Given the description of an element on the screen output the (x, y) to click on. 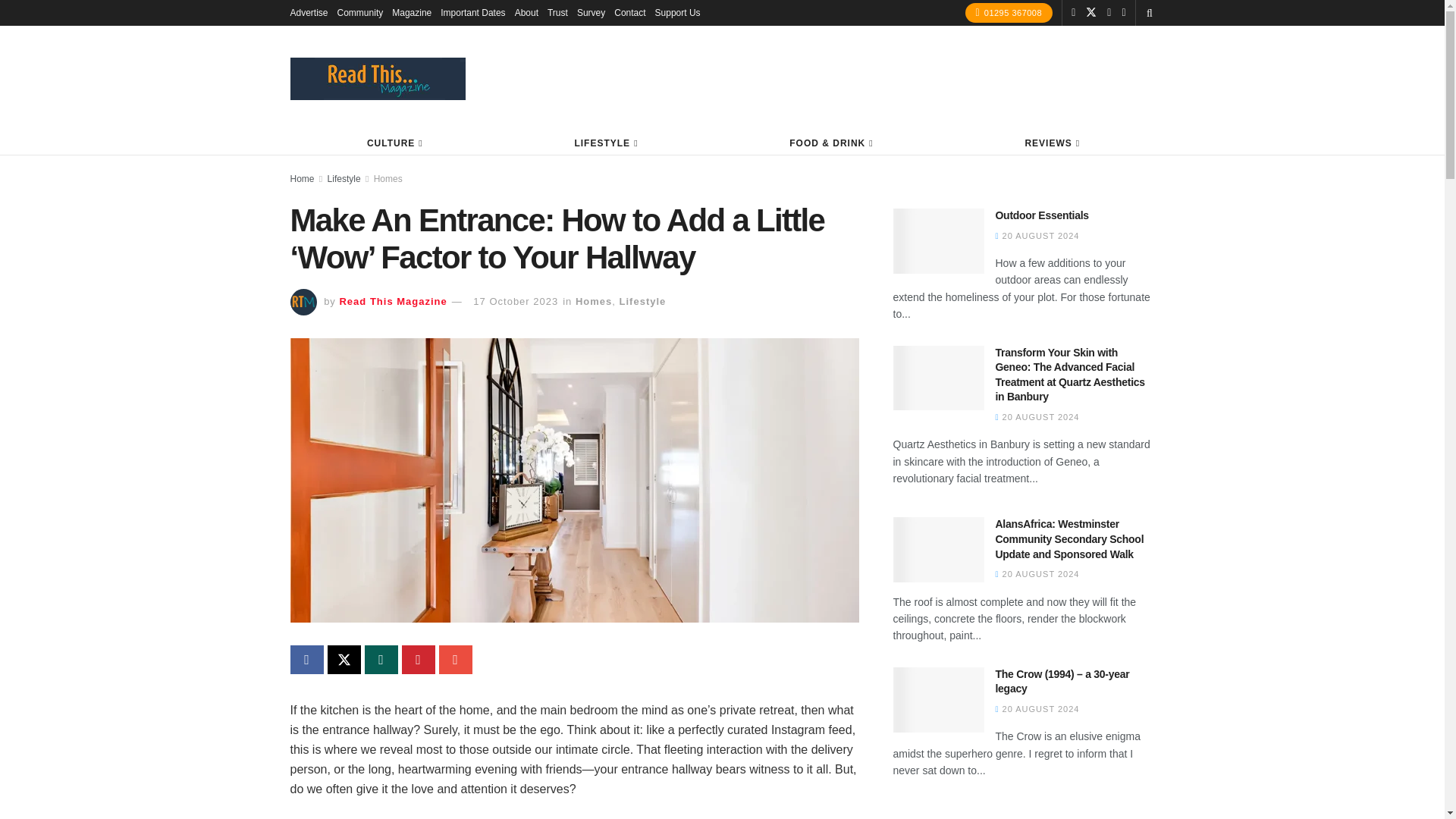
01295 367008 (1008, 12)
Home (301, 178)
Lifestyle (643, 301)
LIFESTYLE (605, 142)
Advertise (308, 12)
Read This Magazine (392, 301)
CULTURE (393, 142)
Support Us (677, 12)
REVIEWS (1050, 142)
Community (360, 12)
